Given the description of an element on the screen output the (x, y) to click on. 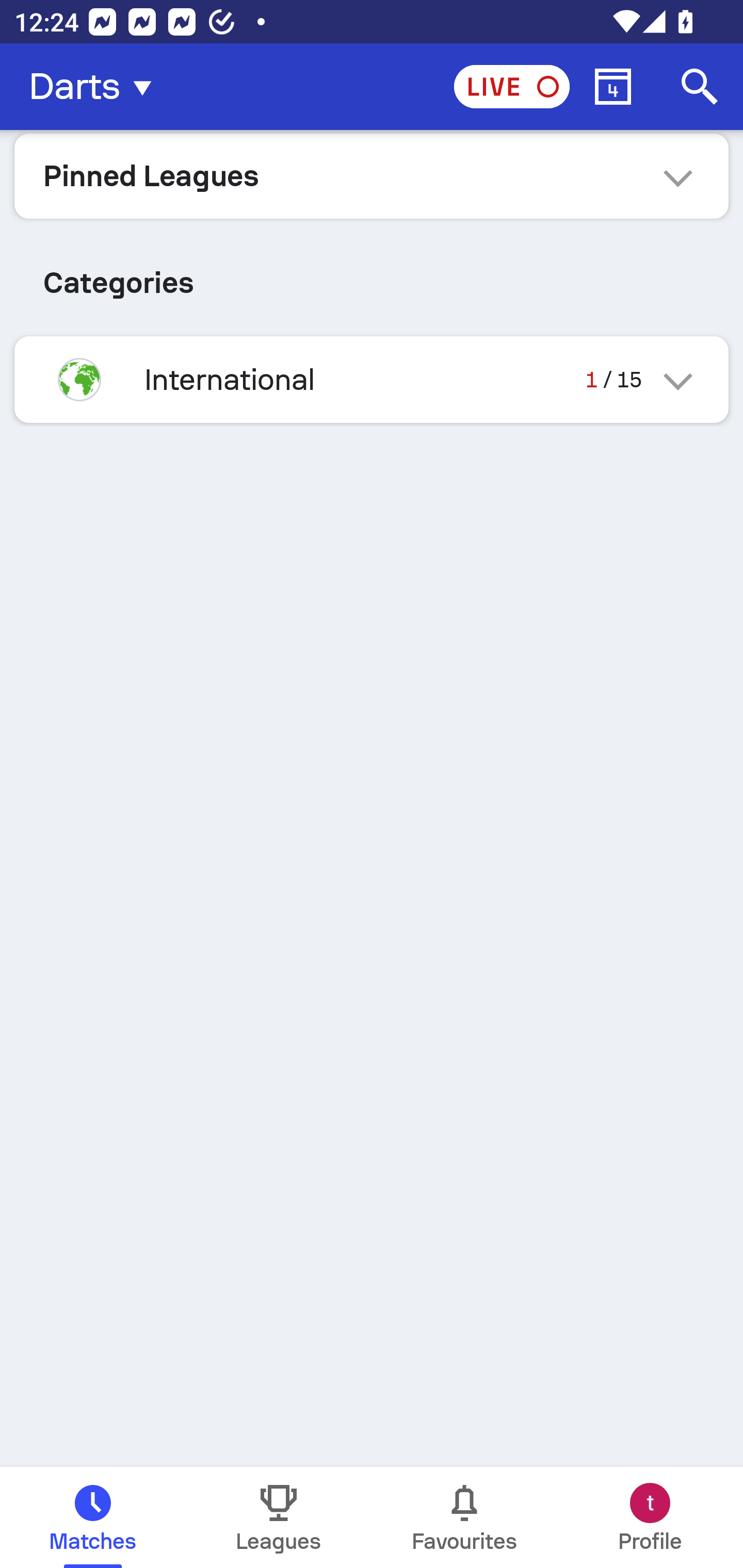
Darts (96, 86)
Calendar (612, 86)
Search (699, 86)
Pinned Leagues (371, 175)
Categories (371, 275)
International 1 / 15 (371, 379)
Leagues (278, 1517)
Favourites (464, 1517)
Profile (650, 1517)
